Given the description of an element on the screen output the (x, y) to click on. 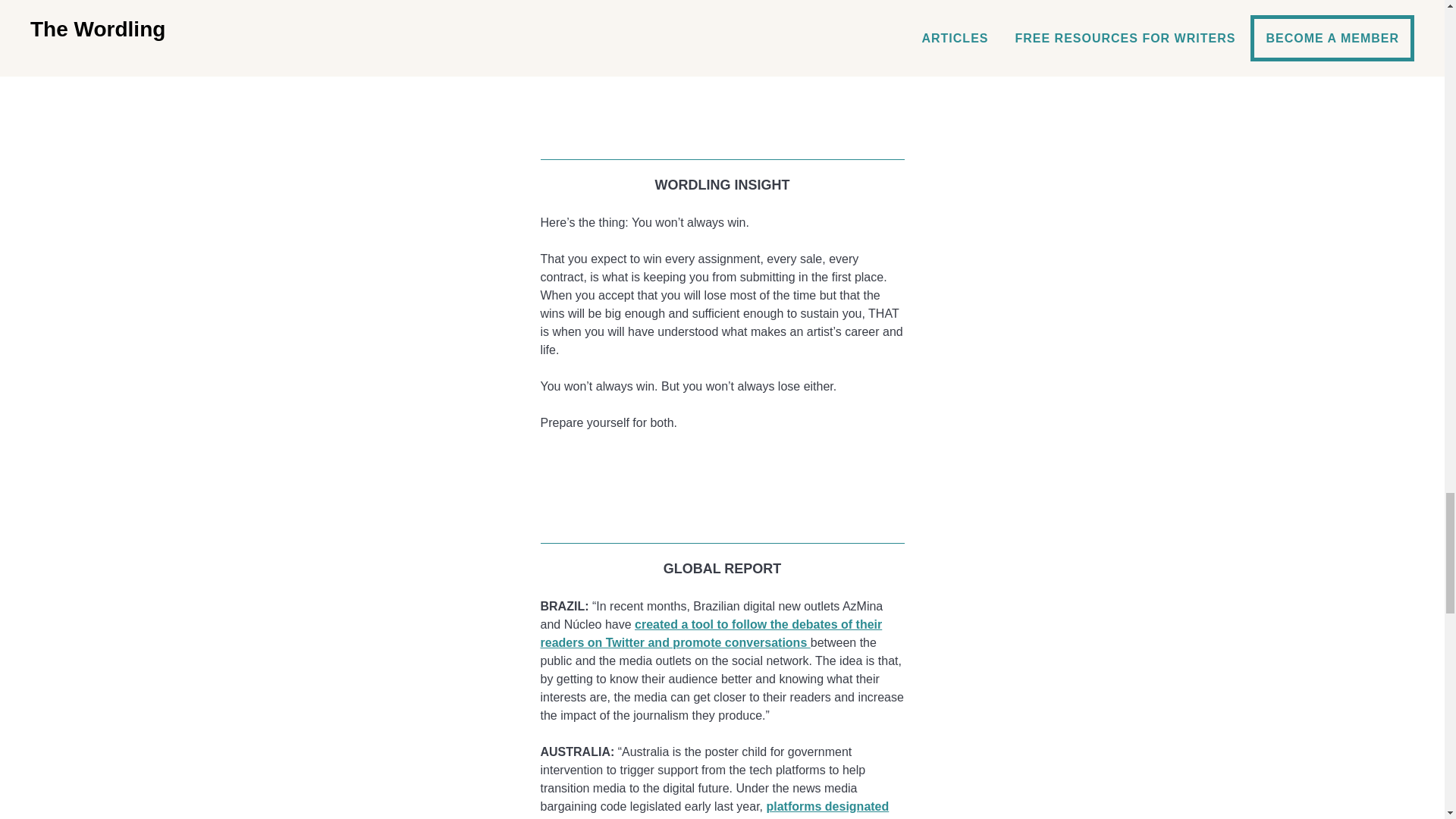
facebook (721, 459)
twitter (721, 483)
twitter (721, 99)
facebook (721, 75)
E-Mail (721, 124)
